Given the description of an element on the screen output the (x, y) to click on. 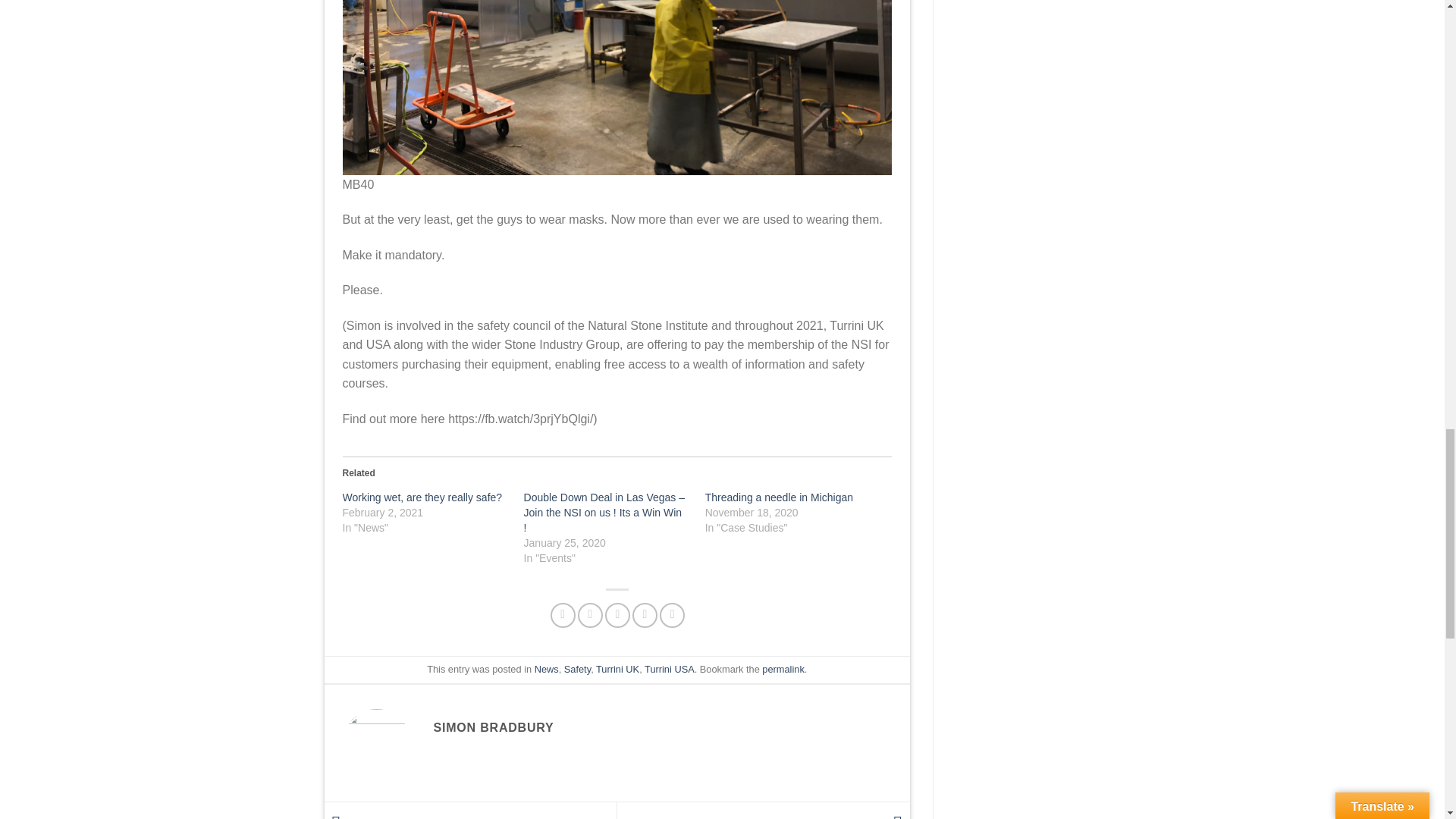
Threading a needle in Michigan (778, 497)
Safety (577, 668)
News (546, 668)
Threading a needle in Michigan (778, 497)
Working wet, are they really safe? (422, 497)
Turrini UK (617, 668)
Share on Facebook (562, 615)
Working wet, are they really safe? (422, 497)
